Given the description of an element on the screen output the (x, y) to click on. 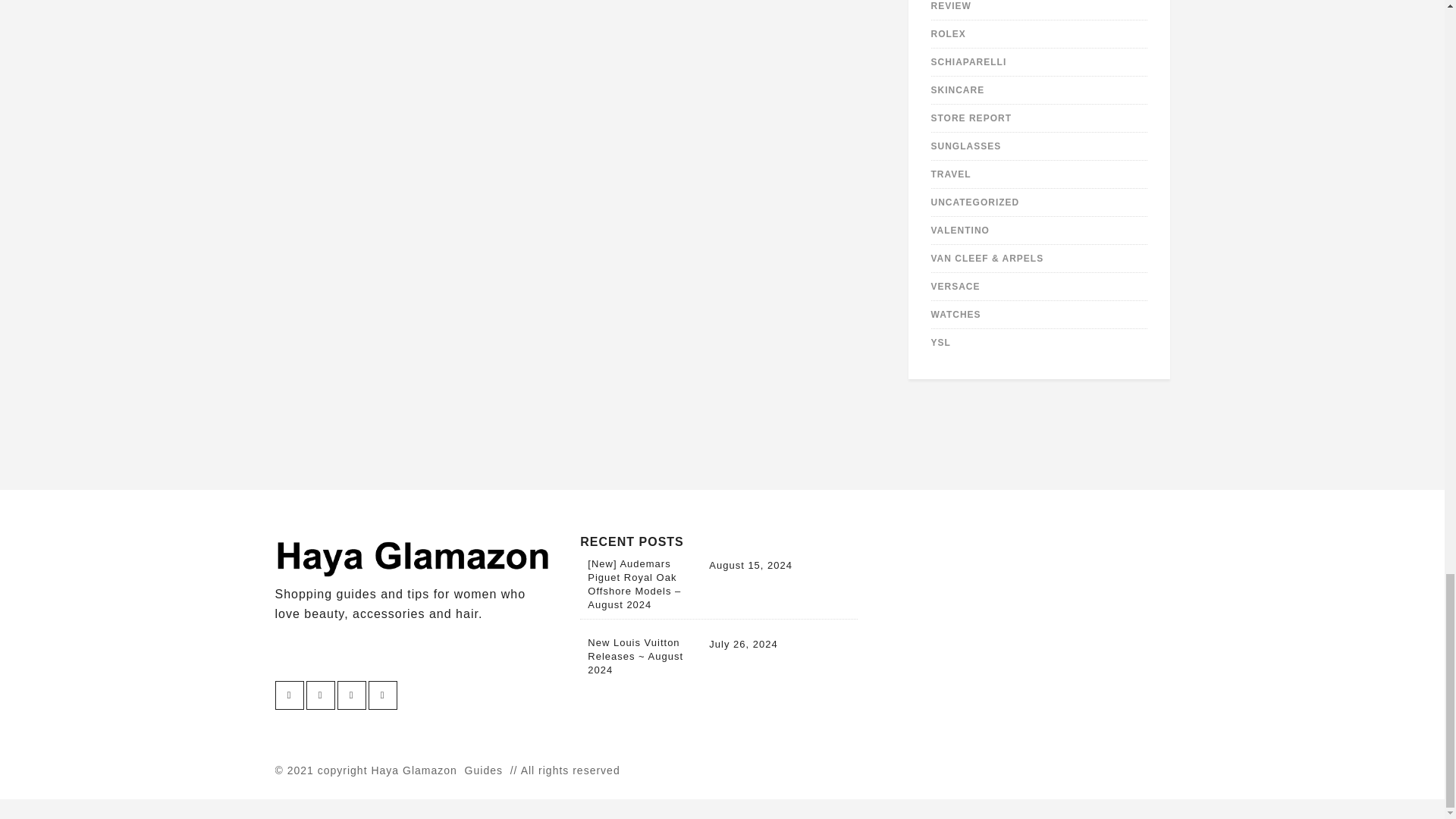
Instagram (319, 695)
Twitter (288, 695)
Youtube (382, 695)
Facebook (350, 695)
